Given the description of an element on the screen output the (x, y) to click on. 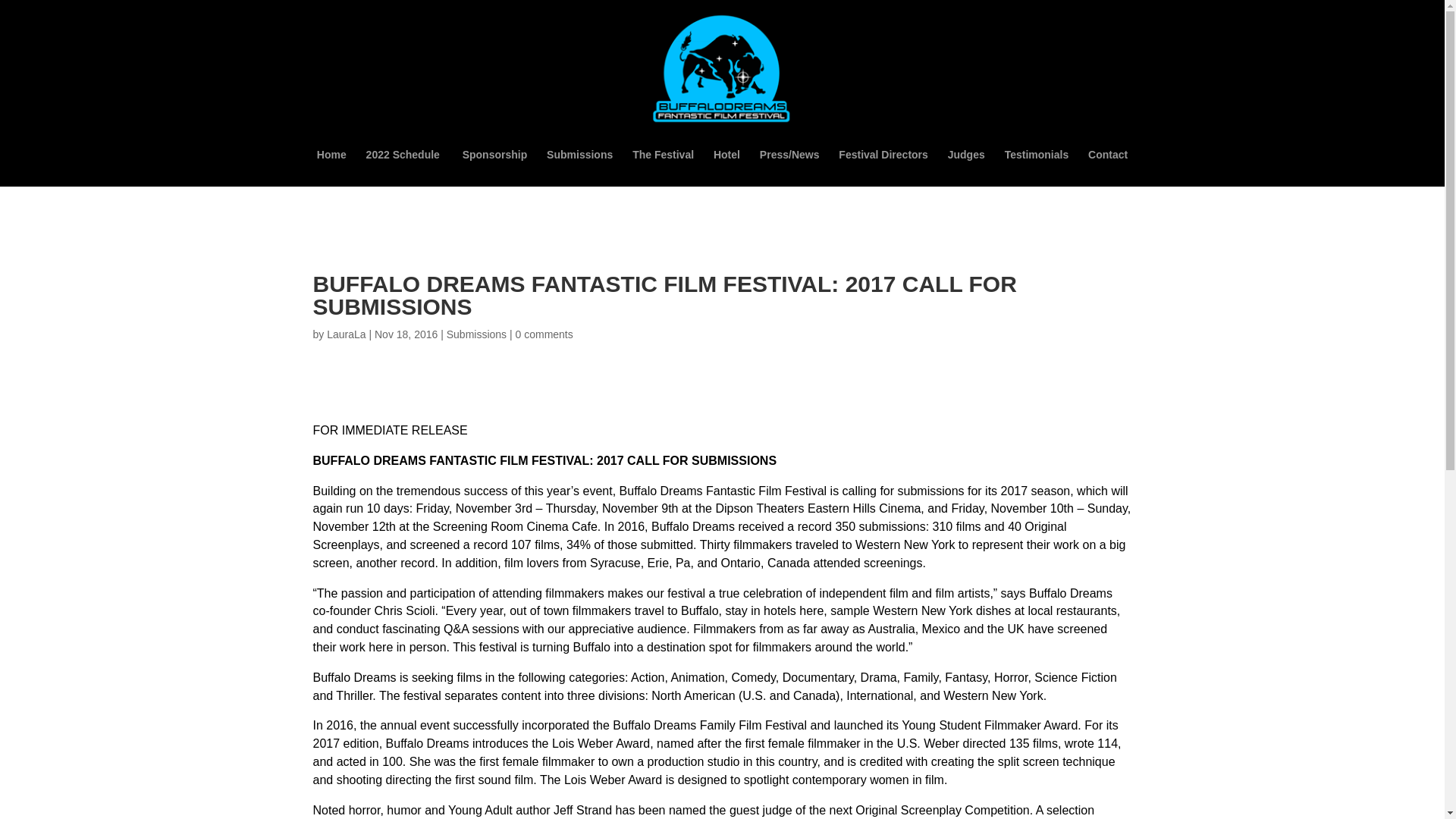
Judges (966, 167)
Festival Directors (883, 167)
Contact (1106, 167)
Submissions (579, 167)
2022 Schedule  (404, 167)
Submissions (476, 334)
Testimonials (1036, 167)
Posts by LauraLa (345, 334)
LauraLa (345, 334)
Sponsorship (495, 167)
0 comments (544, 334)
The Festival (662, 167)
